Given the description of an element on the screen output the (x, y) to click on. 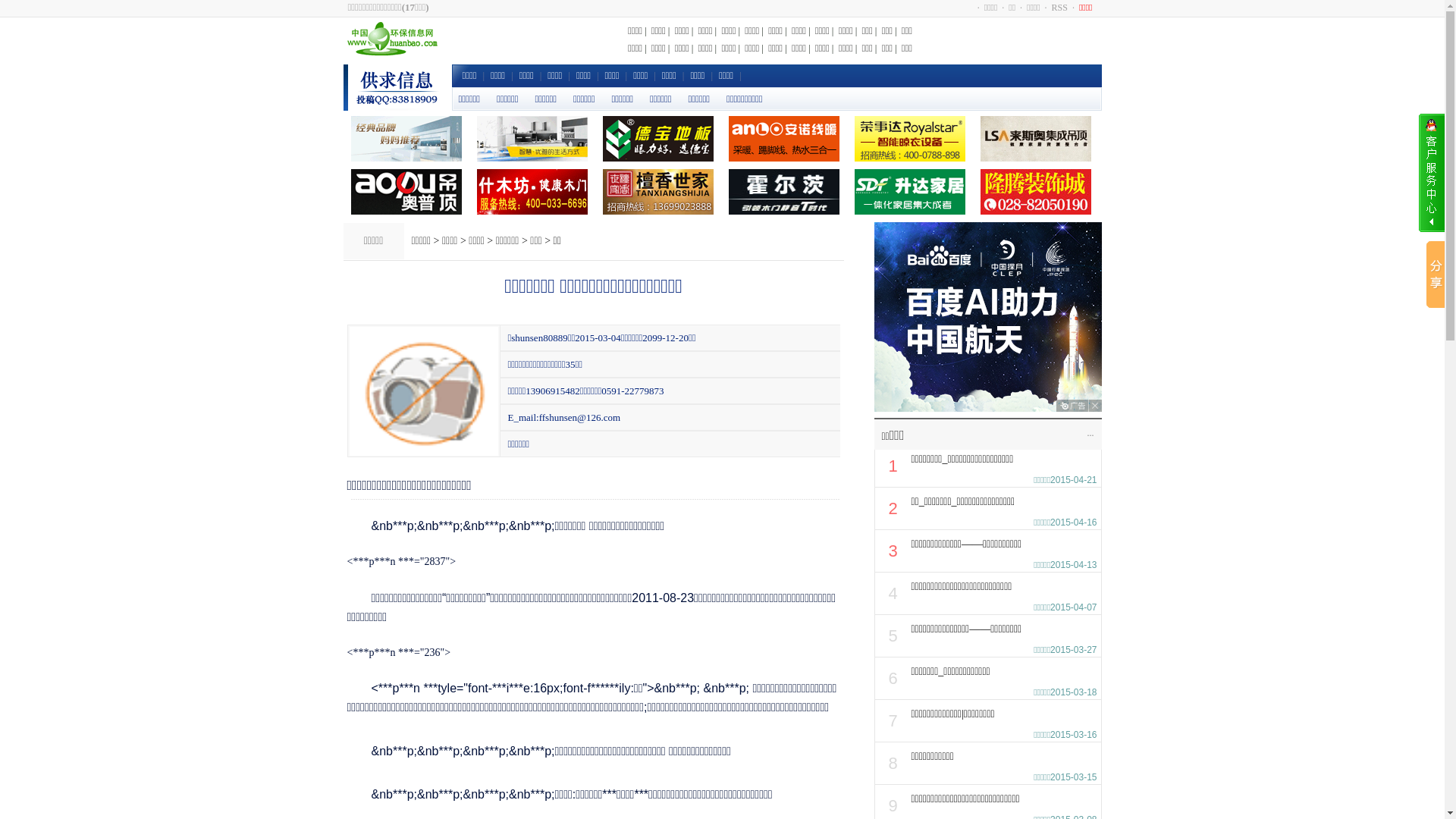
RSS Element type: text (1059, 7)
... Element type: text (1090, 432)
